Given the description of an element on the screen output the (x, y) to click on. 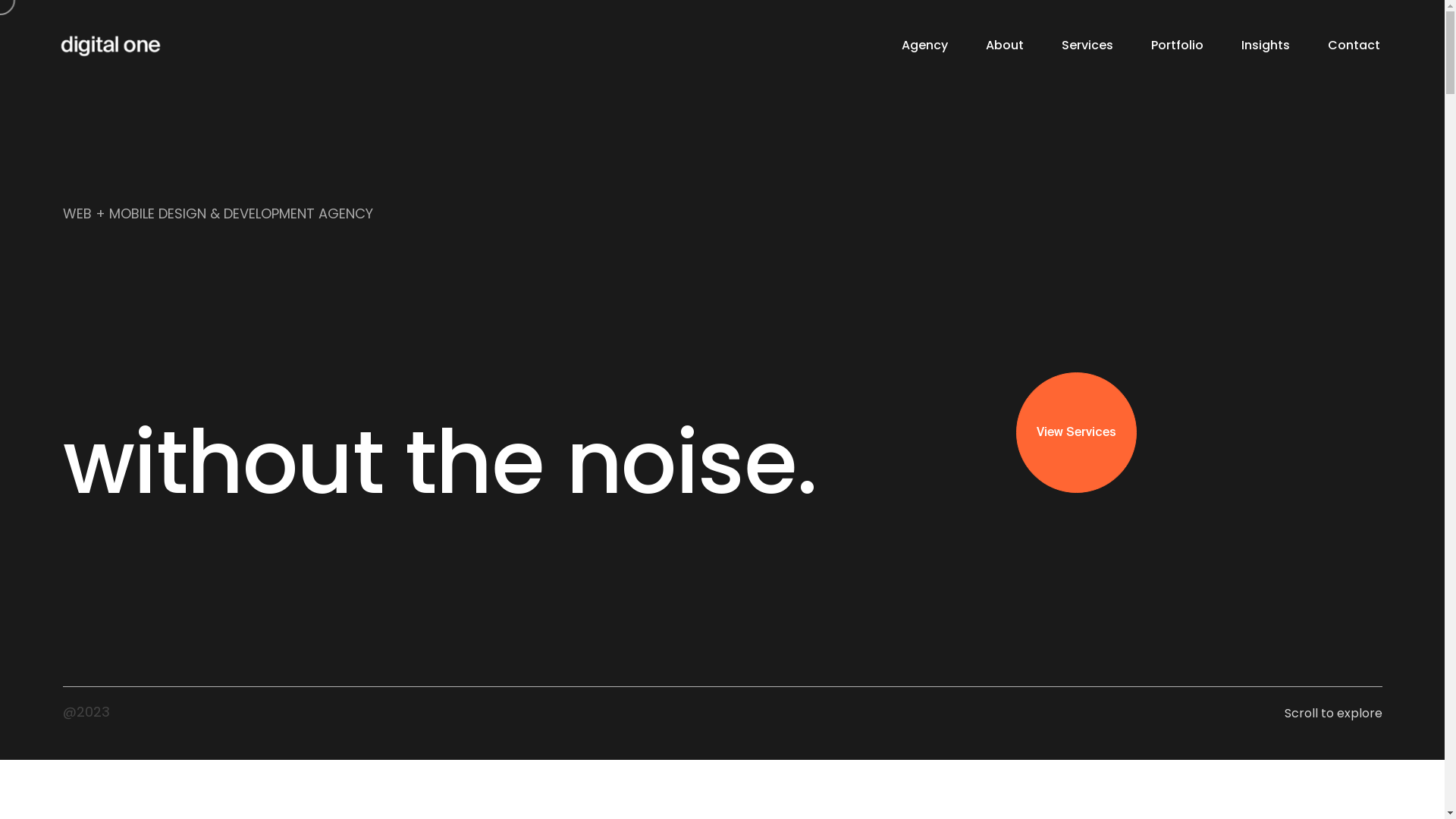
About Element type: text (1004, 45)
Scroll to explore Element type: text (1333, 712)
Services Element type: text (1087, 45)
Portfolio Element type: text (1177, 45)
View Services Element type: text (1076, 432)
Agency Element type: text (924, 45)
Contact Element type: text (1353, 45)
Insights Element type: text (1265, 45)
